Given the description of an element on the screen output the (x, y) to click on. 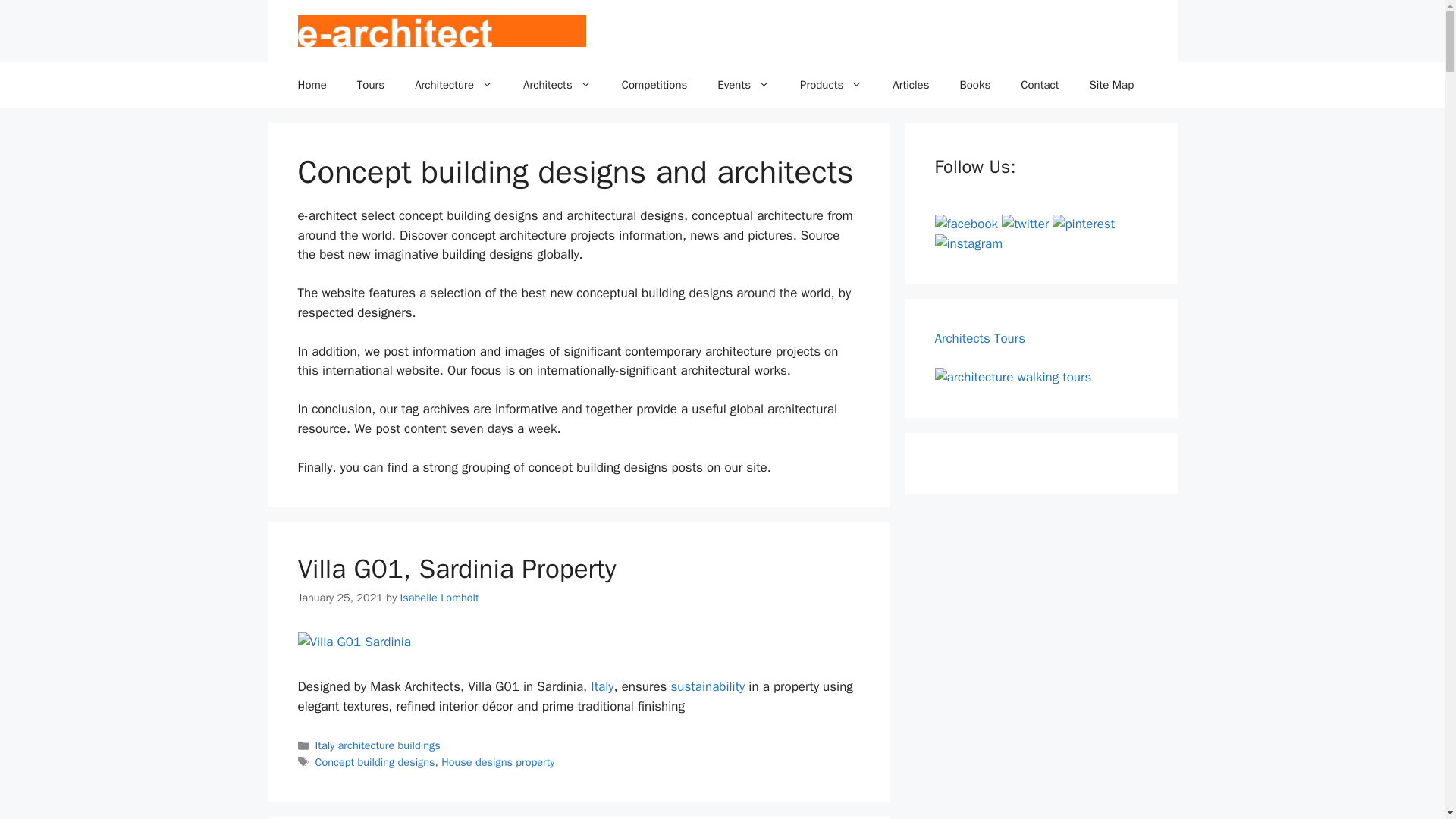
Italy (601, 686)
View all posts by Isabelle Lomholt (439, 597)
House designs property (497, 762)
Italy architecture buildings (378, 745)
Articles (910, 84)
Concept building designs (375, 762)
sustainability (706, 686)
Books (974, 84)
Home (311, 84)
Competitions (655, 84)
